Given the description of an element on the screen output the (x, y) to click on. 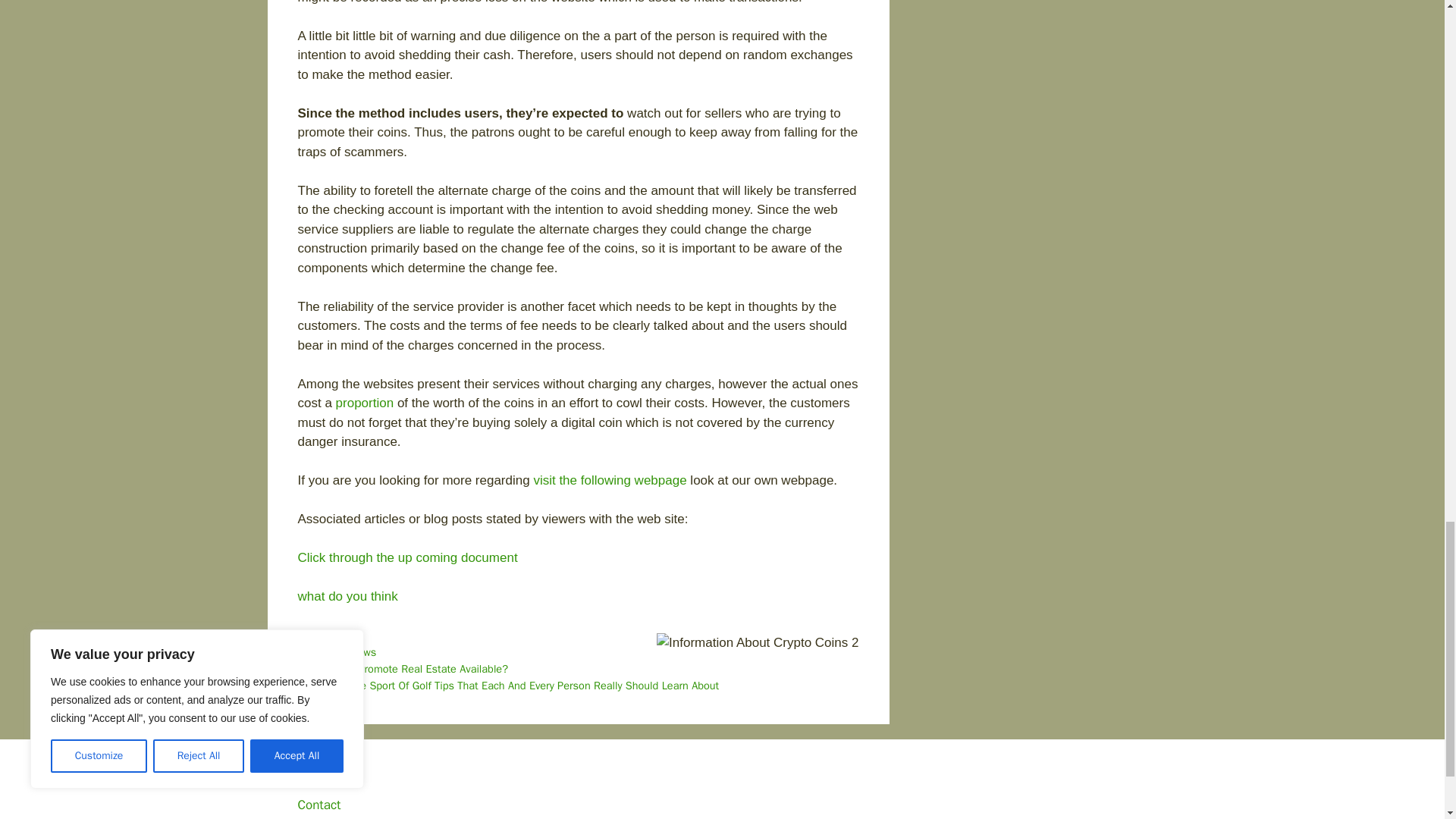
General (333, 635)
visit the following webpage (608, 480)
Click through the up coming document (406, 557)
Ways To Promote Real Estate Available? (411, 668)
proportion (365, 402)
what do you think (347, 595)
